Given the description of an element on the screen output the (x, y) to click on. 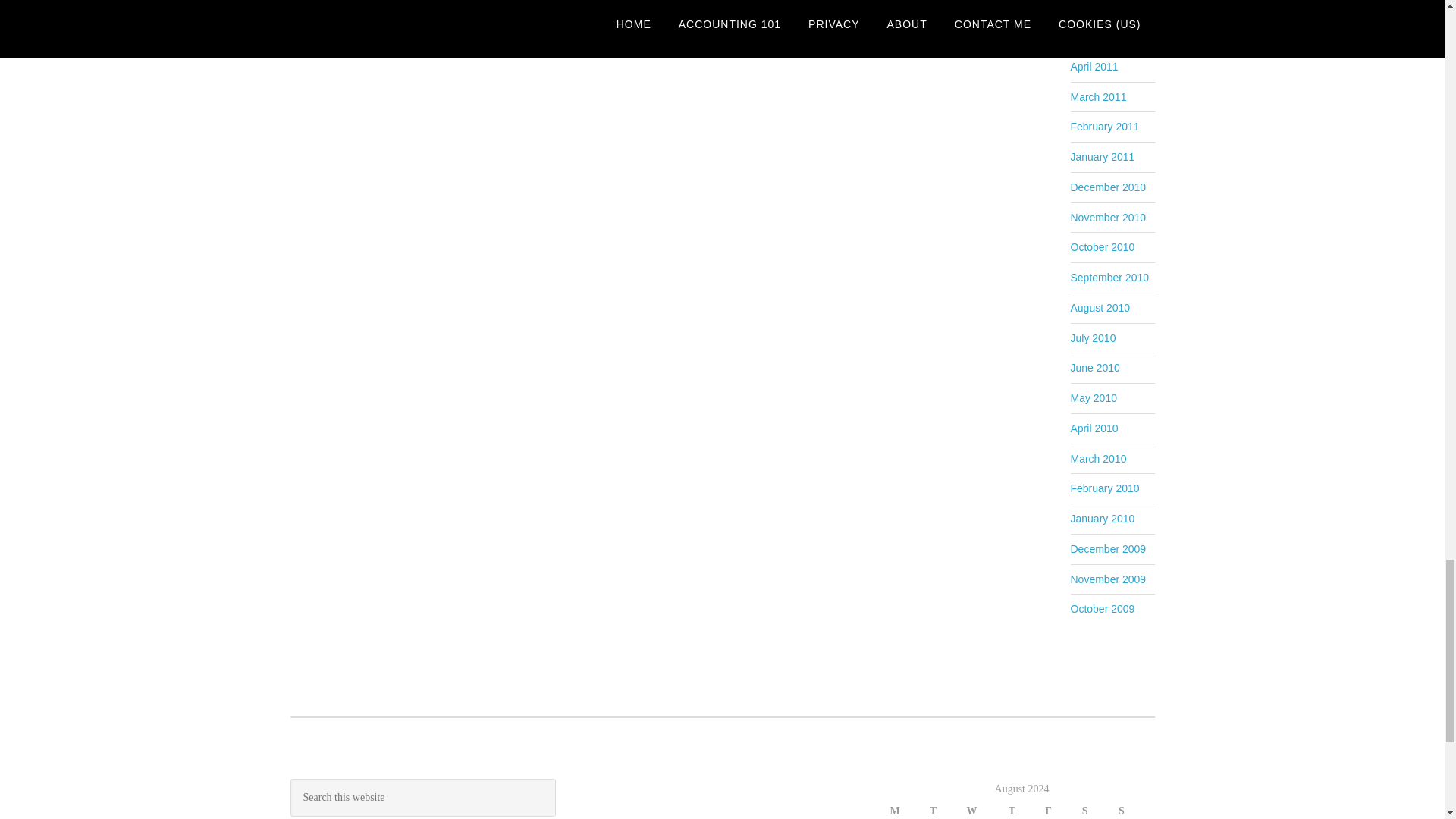
Wednesday (986, 809)
Monday (908, 809)
Friday (1061, 809)
Thursday (1025, 809)
Tuesday (946, 809)
Saturday (1099, 809)
